Given the description of an element on the screen output the (x, y) to click on. 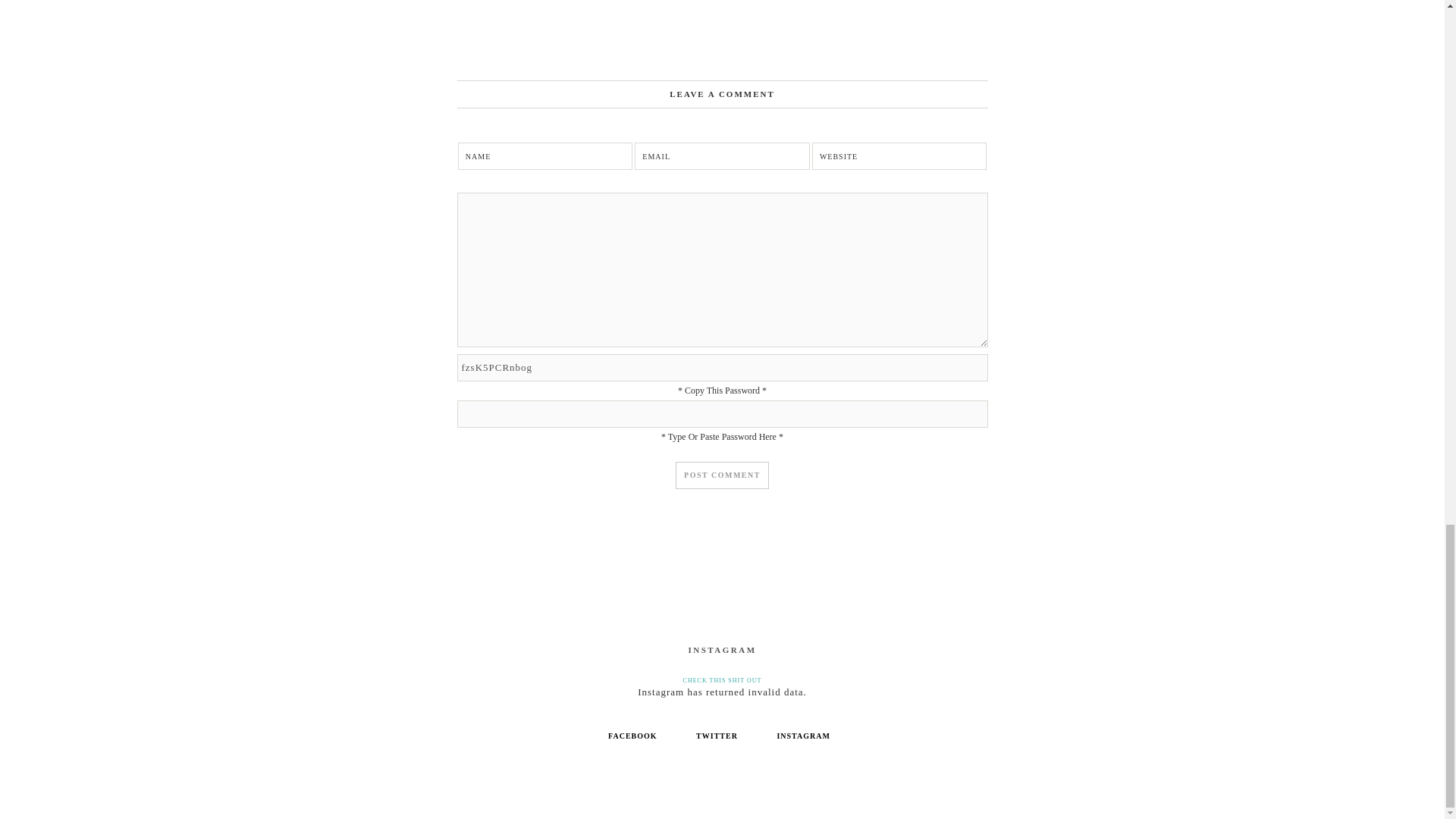
CHECK THIS SHIT OUT (721, 680)
FACEBOOK (632, 736)
INSTAGRAM (802, 736)
Post Comment (721, 474)
Post Comment (721, 474)
fzsK5PCRnbog (722, 367)
TWITTER (716, 736)
